Given the description of an element on the screen output the (x, y) to click on. 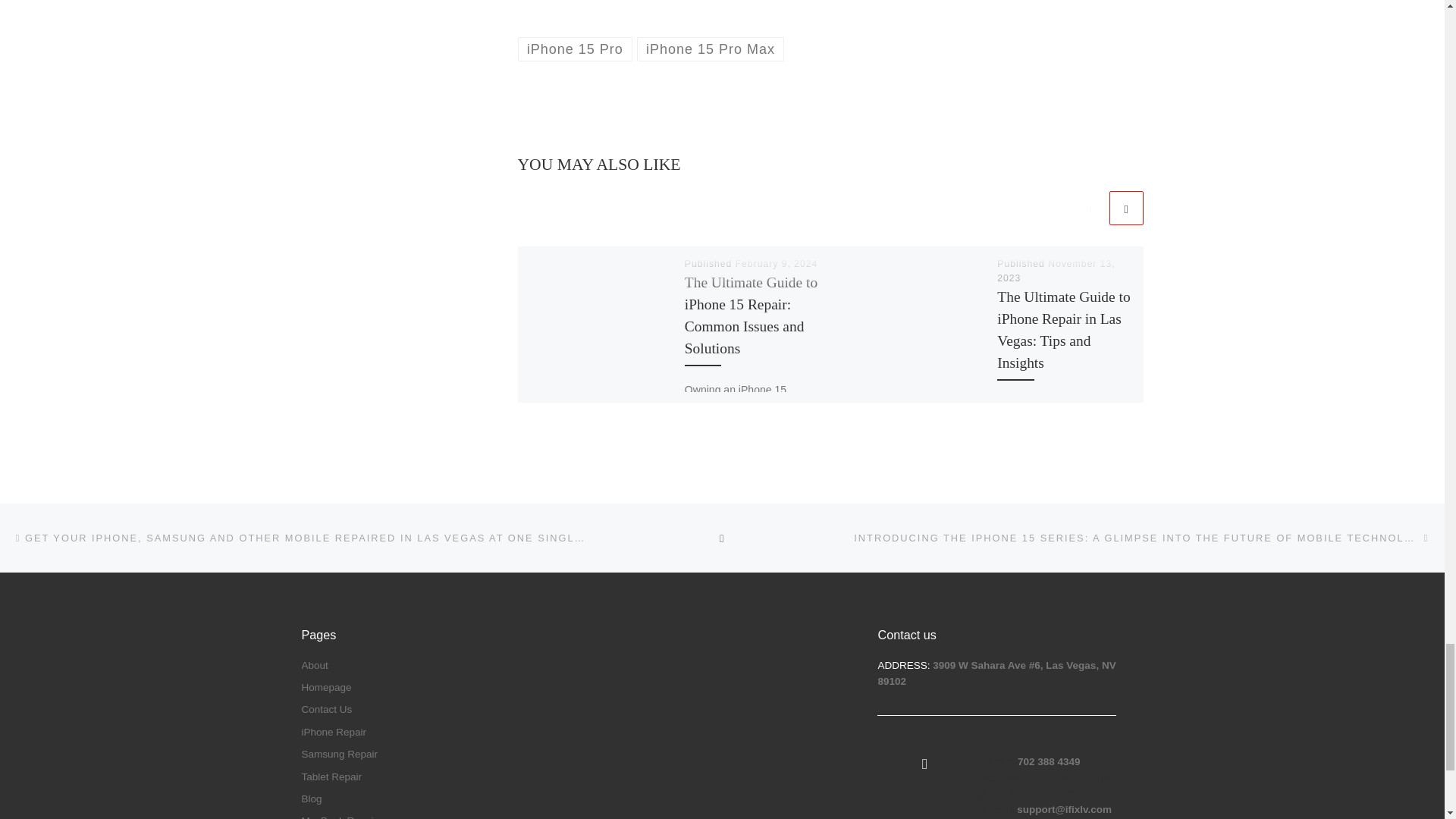
View all posts in iPhone 15 Pro (573, 48)
Previous related articles (1088, 207)
View all posts in iPhone 15 Pro Max (710, 48)
Next related articles (1125, 207)
